Given the description of an element on the screen output the (x, y) to click on. 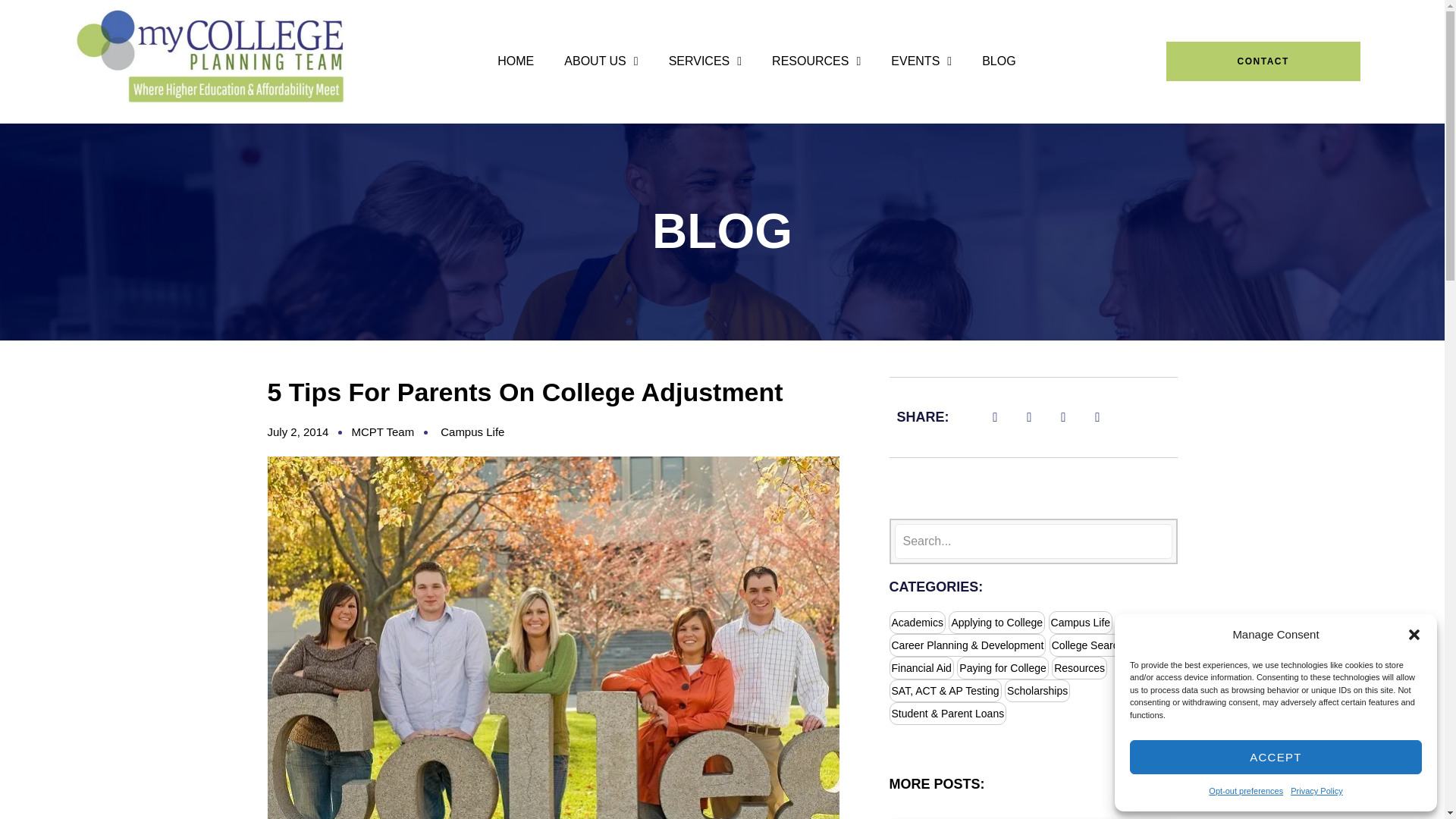
ACCEPT (1275, 756)
HOME (514, 60)
Privacy Policy (1316, 791)
Opt-out preferences (1245, 791)
